Given the description of an element on the screen output the (x, y) to click on. 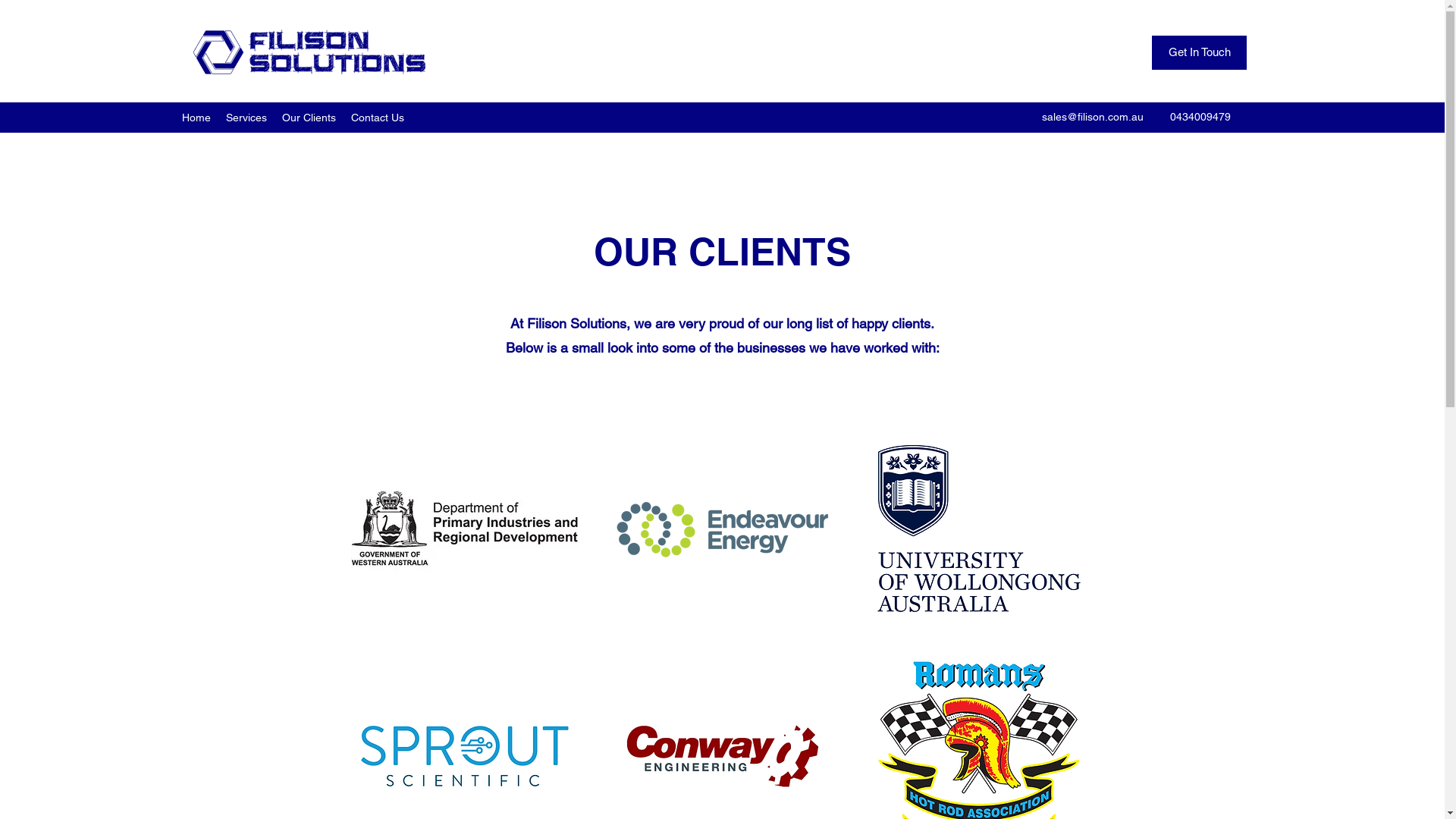
sales@filison.com.au Element type: text (1092, 116)
Our Clients Element type: text (308, 117)
Home Element type: text (196, 117)
Get In Touch Element type: text (1198, 52)
Contact Us Element type: text (377, 117)
Services Element type: text (246, 117)
